Given the description of an element on the screen output the (x, y) to click on. 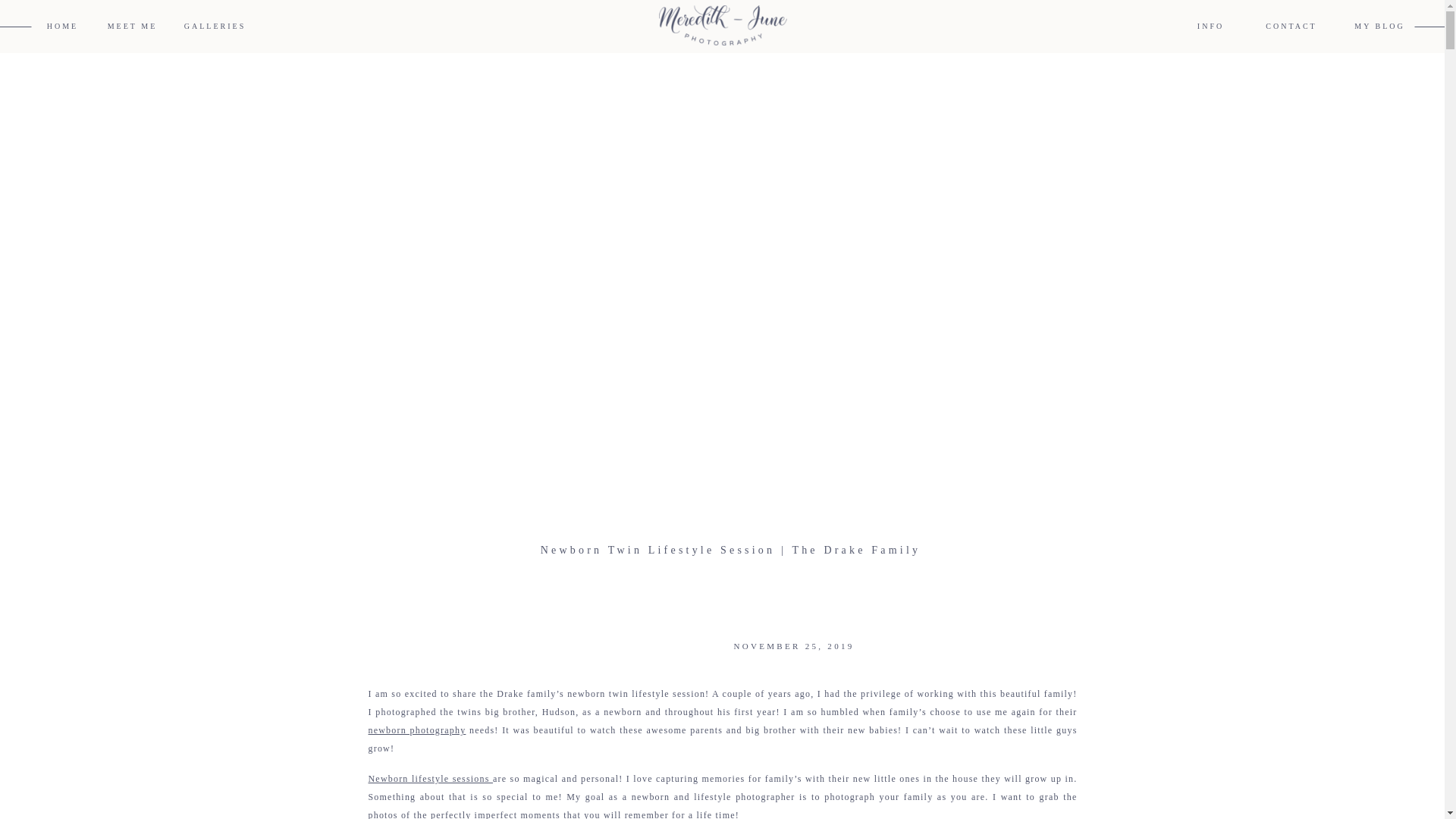
CONTACT (1291, 26)
MEET ME (132, 26)
HOME (62, 26)
MY BLOG (1379, 26)
newborn photography (416, 729)
GALLERIES (214, 26)
Newborn lifestyle sessions (430, 778)
